Given the description of an element on the screen output the (x, y) to click on. 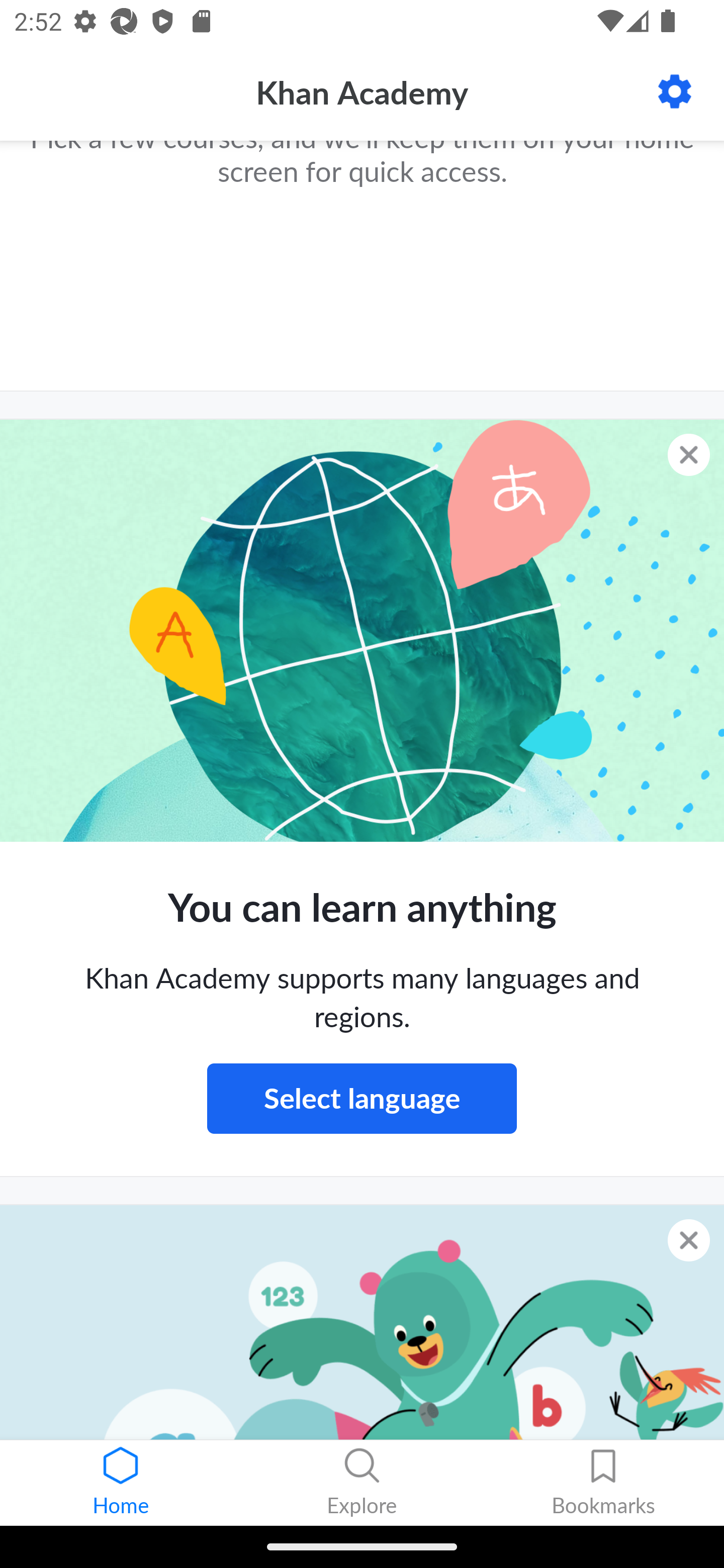
Settings (674, 91)
Dismiss (688, 455)
Select language (361, 1098)
Dismiss (688, 1239)
Home (120, 1482)
Explore (361, 1482)
Bookmarks (603, 1482)
